Given the description of an element on the screen output the (x, y) to click on. 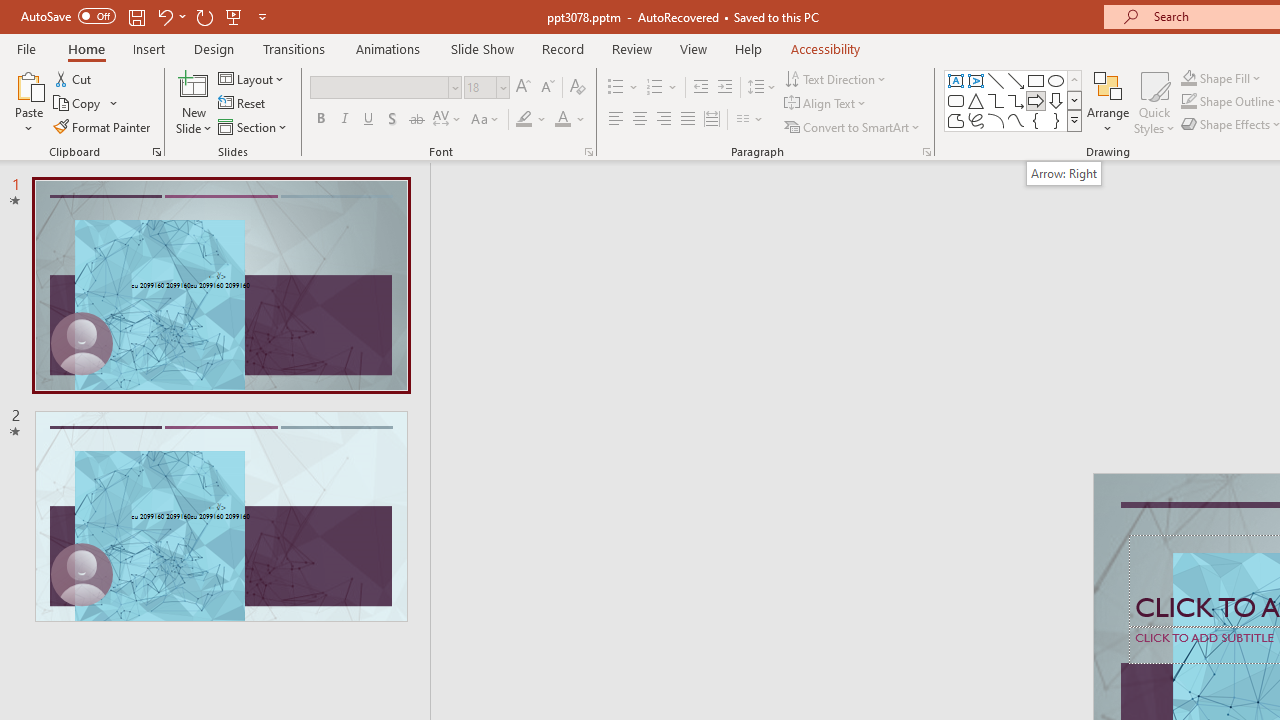
Office Clipboard... (156, 151)
Arrange (1108, 102)
Clear Formatting (577, 87)
Align Right (663, 119)
Arc (995, 120)
AutomationID: ShapesInsertGallery (1014, 100)
Decrease Indent (700, 87)
Line Arrow (1016, 80)
Reset (243, 103)
